Given the description of an element on the screen output the (x, y) to click on. 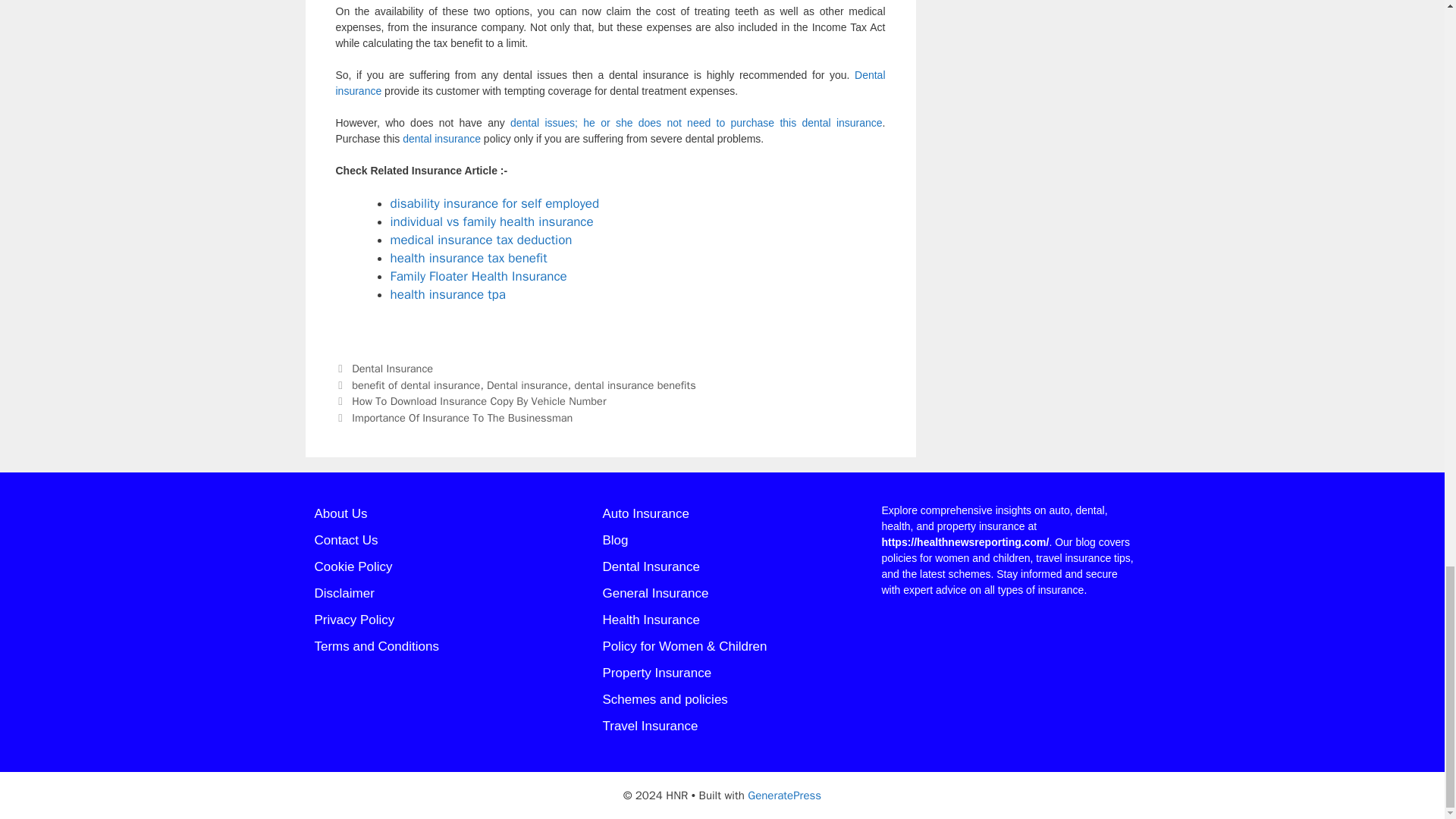
Dental insurance (526, 385)
How To Download Insurance Copy By Vehicle Number (478, 400)
Dental Insurance (392, 368)
benefit of dental insurance (416, 385)
health insurance tax benefit (468, 258)
Dental insurance (609, 81)
disability insurance for self employed (494, 203)
medical insurance tax deduction (481, 239)
Family Floater Health Insurance (478, 276)
dental insurance benefits (634, 385)
individual vs family health insurance (491, 221)
dental insurance (441, 137)
Importance Of Insurance To The Businessman (462, 418)
health insurance tpa (447, 294)
